Given the description of an element on the screen output the (x, y) to click on. 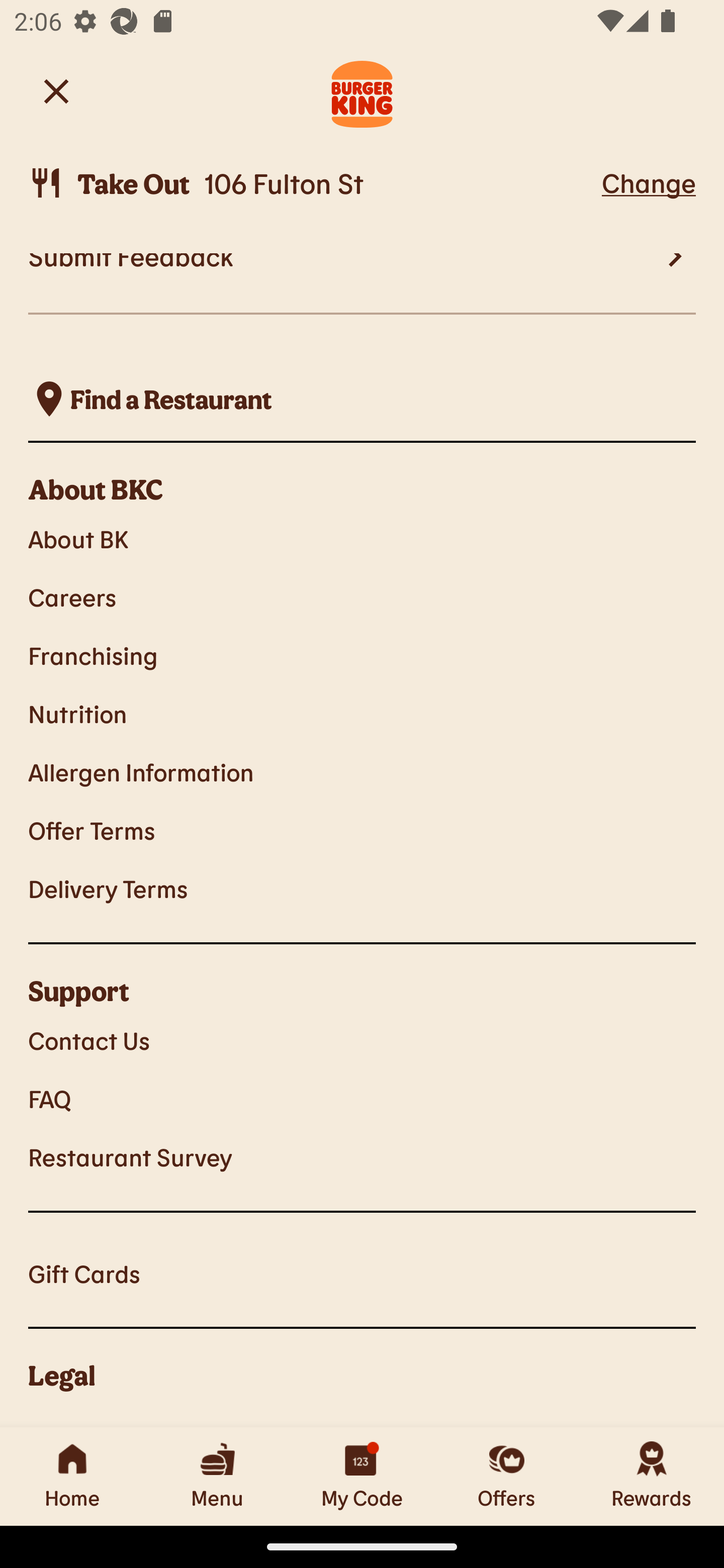
Burger King Logo. Navigate to Home (362, 91)
Back  (56, 90)
Take Out, 106 Fulton St  Take Out 106 Fulton St (311, 183)
Change (648, 182)
Submit Feedback Submit Feedback  (361, 284)
, Find a Restaurant  Find a Restaurant (361, 398)
About BK (361, 538)
Careers (361, 597)
Franchising (361, 655)
Nutrition (361, 713)
Allergen Information (361, 771)
Offer Terms (361, 830)
Delivery Terms (361, 888)
Contact Us (361, 1040)
FAQ (361, 1098)
Restaurant Survey (361, 1157)
Gift Cards (361, 1273)
Home (72, 1475)
Menu (216, 1475)
My Code (361, 1475)
Offers (506, 1475)
Rewards (651, 1475)
